Given the description of an element on the screen output the (x, y) to click on. 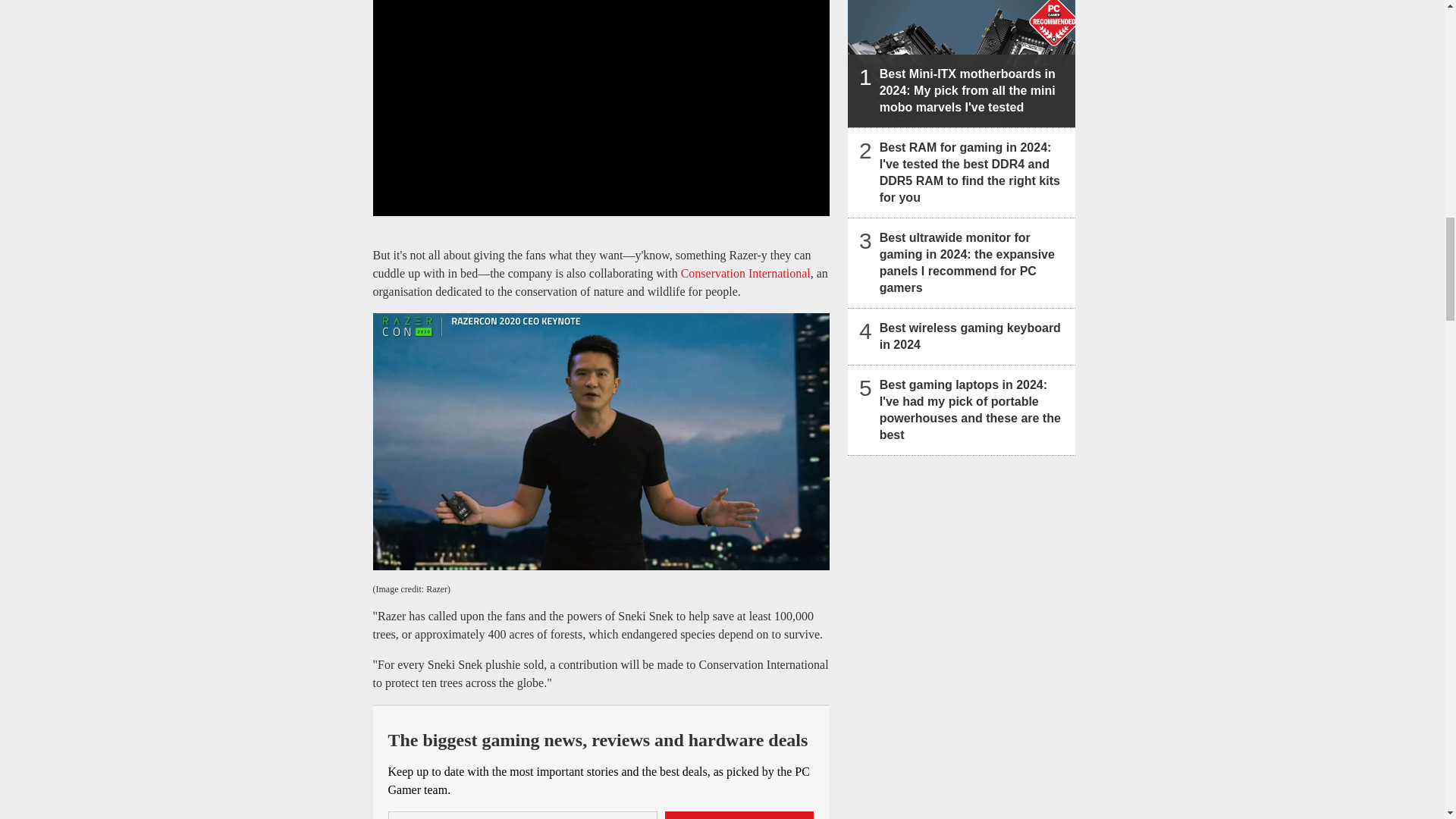
Sign me up (739, 815)
